Given the description of an element on the screen output the (x, y) to click on. 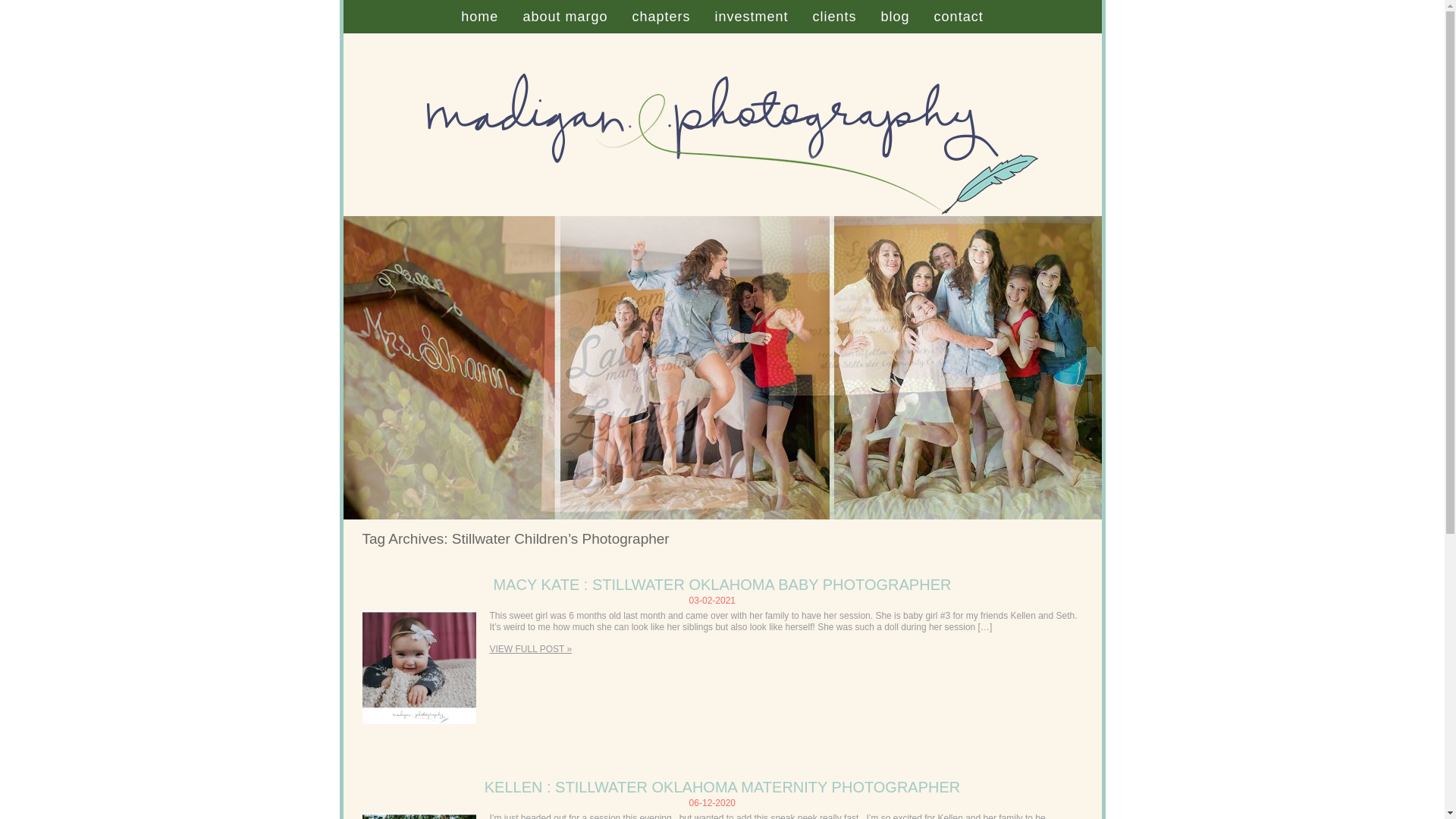
clients (834, 16)
home (479, 16)
contact (959, 16)
chapters (660, 16)
about margo (564, 16)
View full post  (419, 666)
investment (750, 16)
madigan.e.photography.blog (479, 16)
View full post  (419, 816)
madigan.e.photography.blog (721, 213)
blog (895, 16)
Macy Kate : Stillwater Oklahoma Baby Photographer (530, 648)
